Given the description of an element on the screen output the (x, y) to click on. 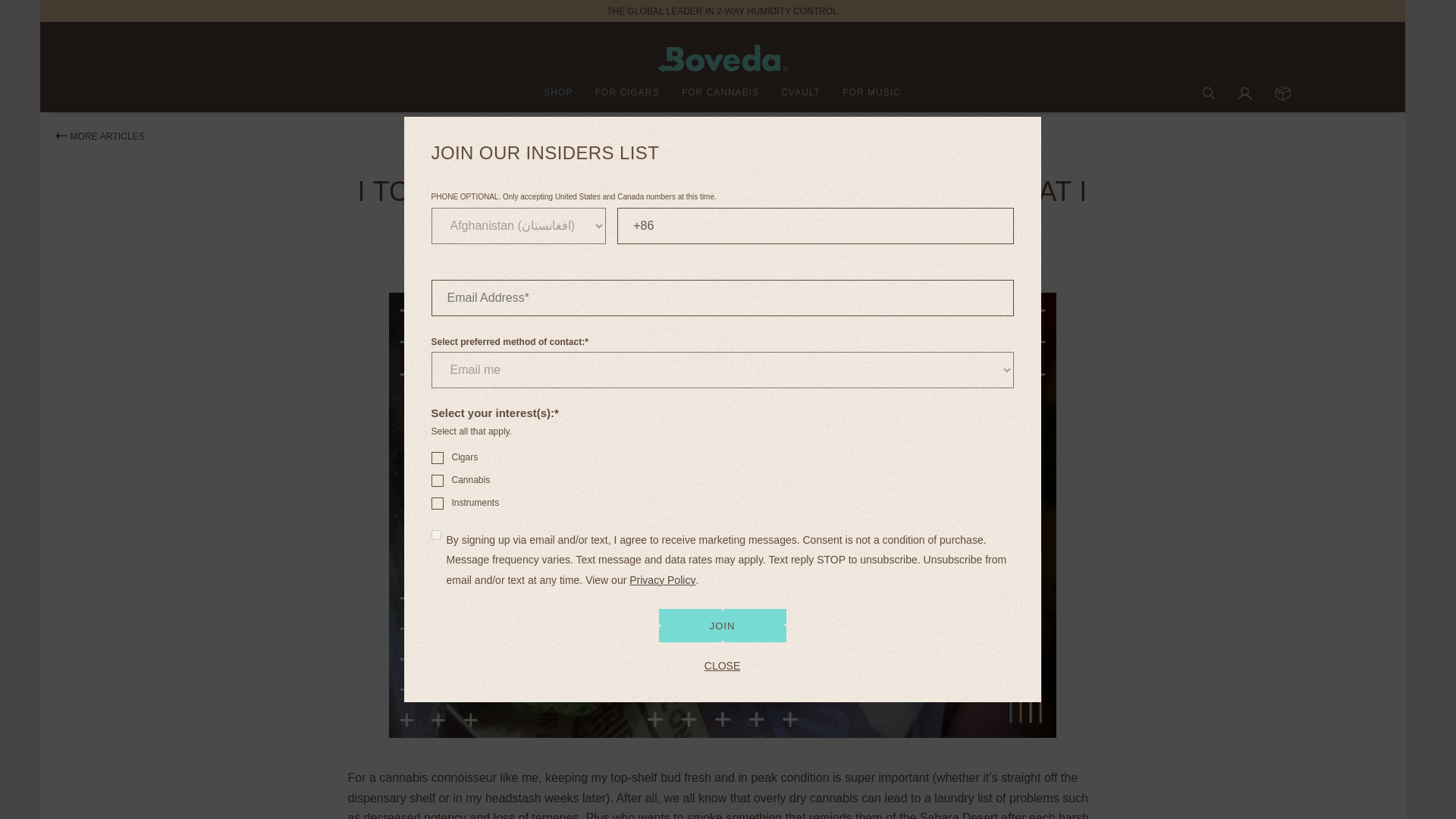
FOR MUSIC (871, 92)
FOR CANNABIS (719, 92)
JOIN (722, 625)
FOR CIGARS (627, 92)
Boveda (721, 58)
Boveda for Herbal Applications (426, 469)
CVAULT (800, 92)
Boveda for Tobacco (426, 446)
true (435, 534)
Boveda for Music (426, 492)
